Given the description of an element on the screen output the (x, y) to click on. 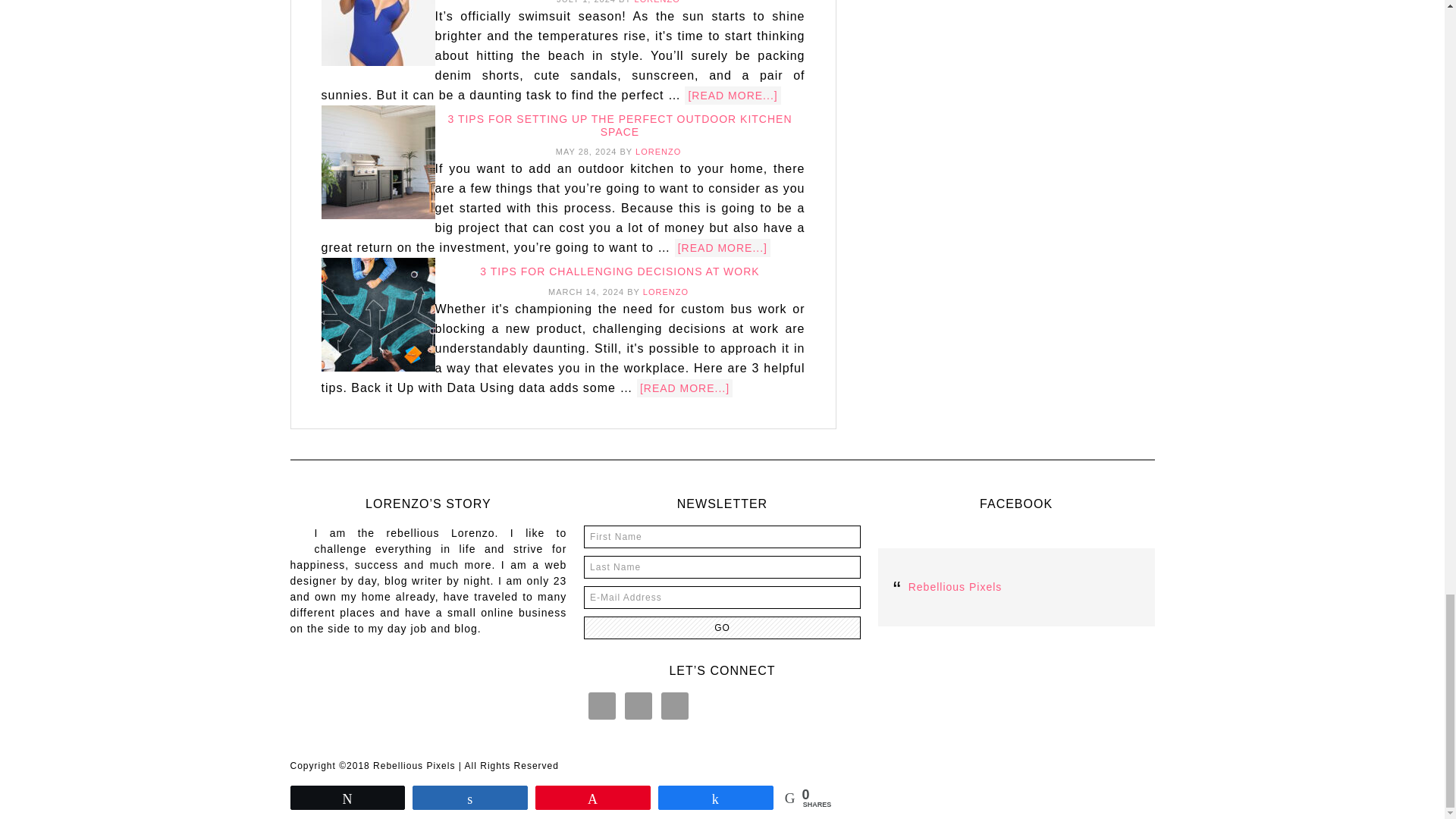
LORENZO (657, 151)
3 TIPS FOR SETTING UP THE PERFECT OUTDOOR KITCHEN SPACE (619, 125)
LORENZO (656, 2)
LORENZO (665, 291)
Go (721, 627)
3 TIPS FOR CHALLENGING DECISIONS AT WORK (619, 271)
Go (721, 627)
